Given the description of an element on the screen output the (x, y) to click on. 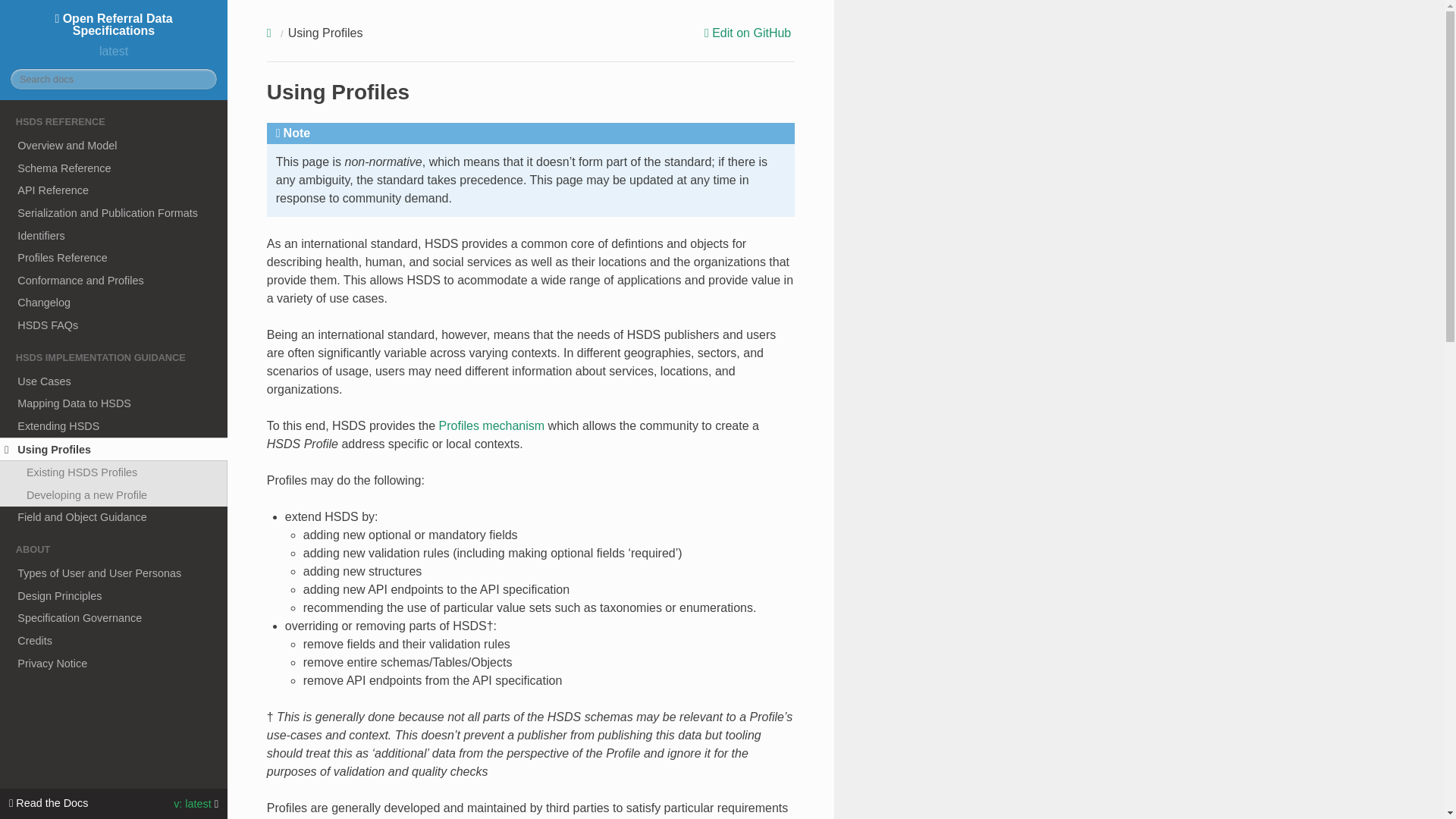
Extending HSDS (113, 425)
Changelog (113, 302)
Edit on GitHub (749, 33)
Schema Reference (113, 168)
Credits (113, 640)
Overview and Model (113, 145)
Open Referral Data Specifications (113, 24)
Field and Object Guidance (113, 517)
HSDS FAQs (113, 324)
Specification Governance (113, 617)
